Given the description of an element on the screen output the (x, y) to click on. 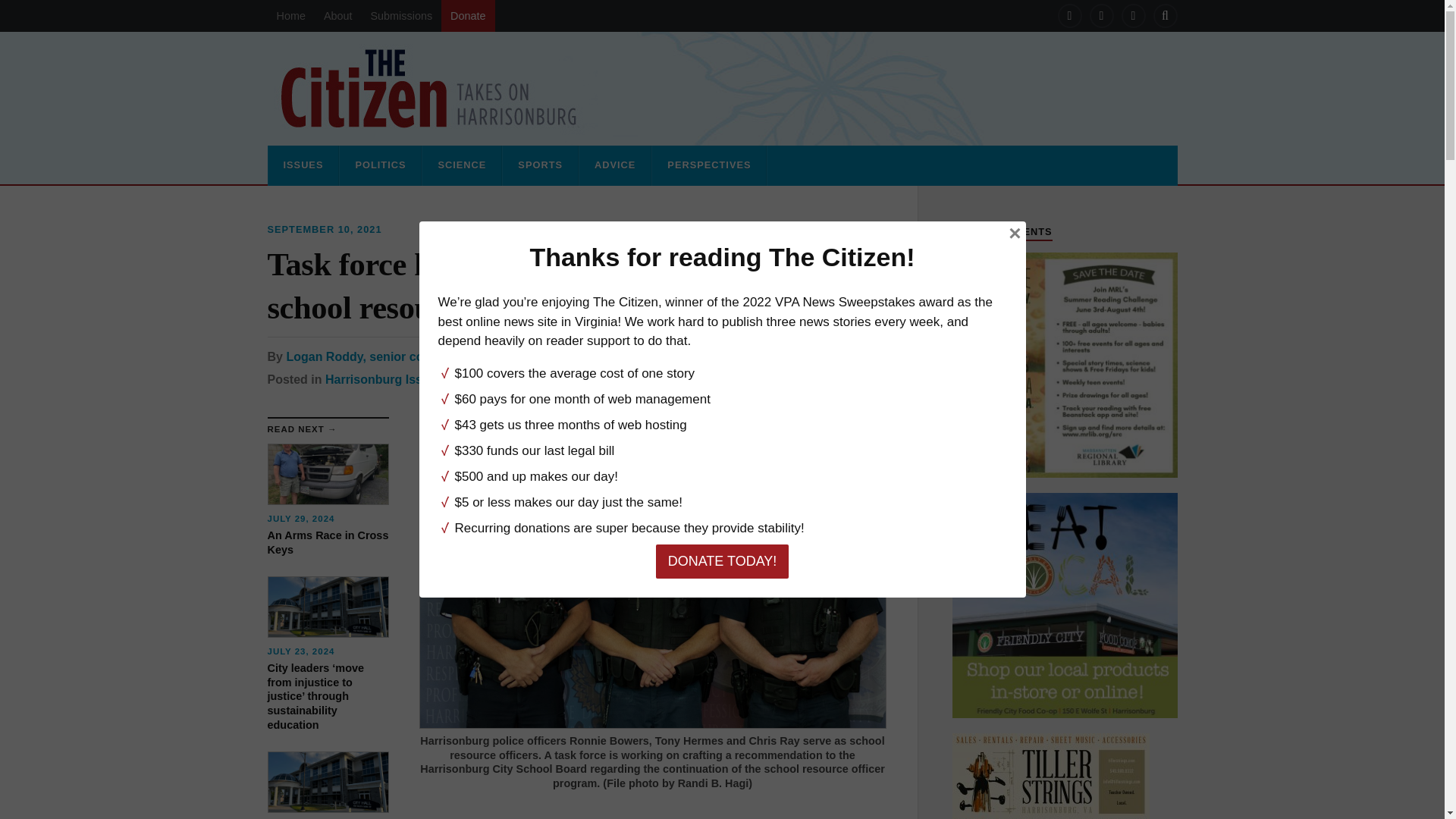
Logan Roddy, senior contributor (379, 356)
Donate (468, 15)
Harrisonburg Issues (384, 379)
SEPTEMBER 10, 2021 (323, 229)
POLITICS (379, 165)
SPORTS (540, 165)
Submissions (401, 15)
SCIENCE (461, 165)
ADVICE (614, 165)
About (337, 15)
ISSUES (303, 165)
PERSPECTIVES (708, 165)
Home (290, 15)
